Given the description of an element on the screen output the (x, y) to click on. 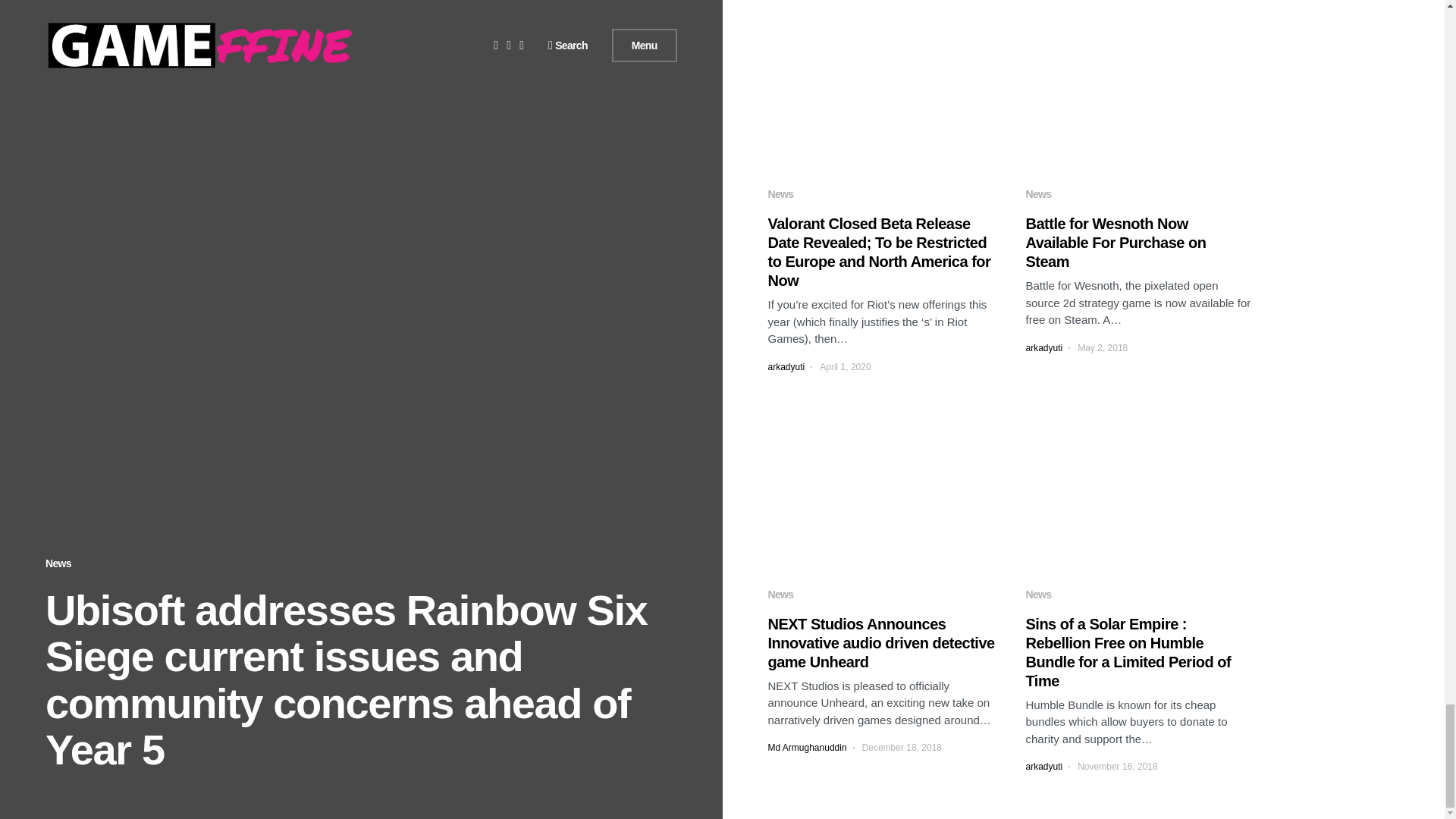
View all posts by Md Armughanuddin (806, 747)
View all posts by arkadyuti (1043, 766)
View all posts by arkadyuti (786, 366)
View all posts by arkadyuti (1043, 347)
